Given the description of an element on the screen output the (x, y) to click on. 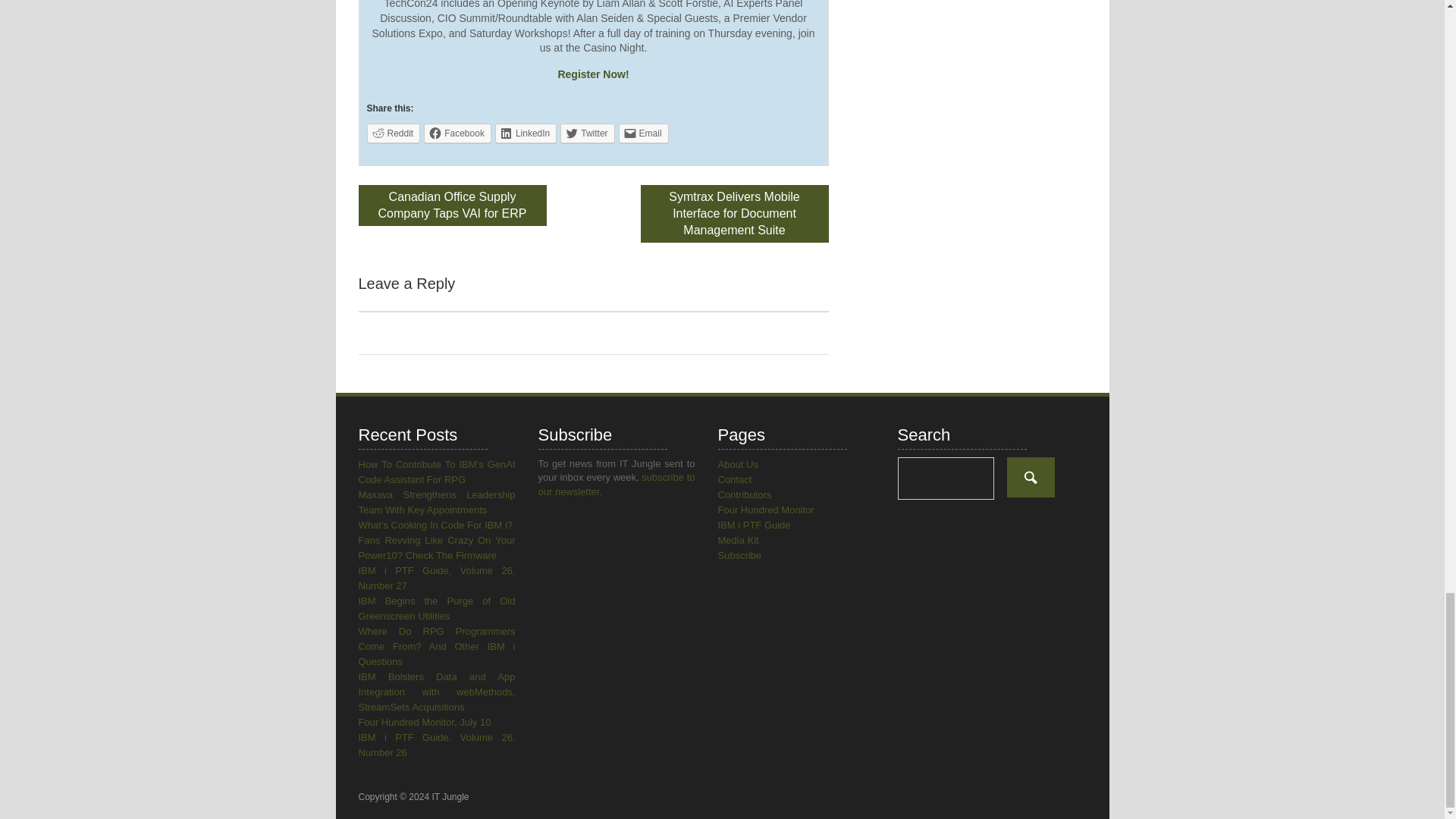
Canadian Office Supply Company Taps VAI for ERP (452, 205)
Click to share on Twitter (587, 133)
Click to share on Facebook (457, 133)
Click to share on LinkedIn (525, 133)
Email (643, 133)
LinkedIn (525, 133)
Reddit (393, 133)
Facebook (457, 133)
Search (1030, 477)
Click to share on Reddit (393, 133)
Click to email a link to a friend (643, 133)
Register Now! (592, 73)
Twitter (587, 133)
